Given the description of an element on the screen output the (x, y) to click on. 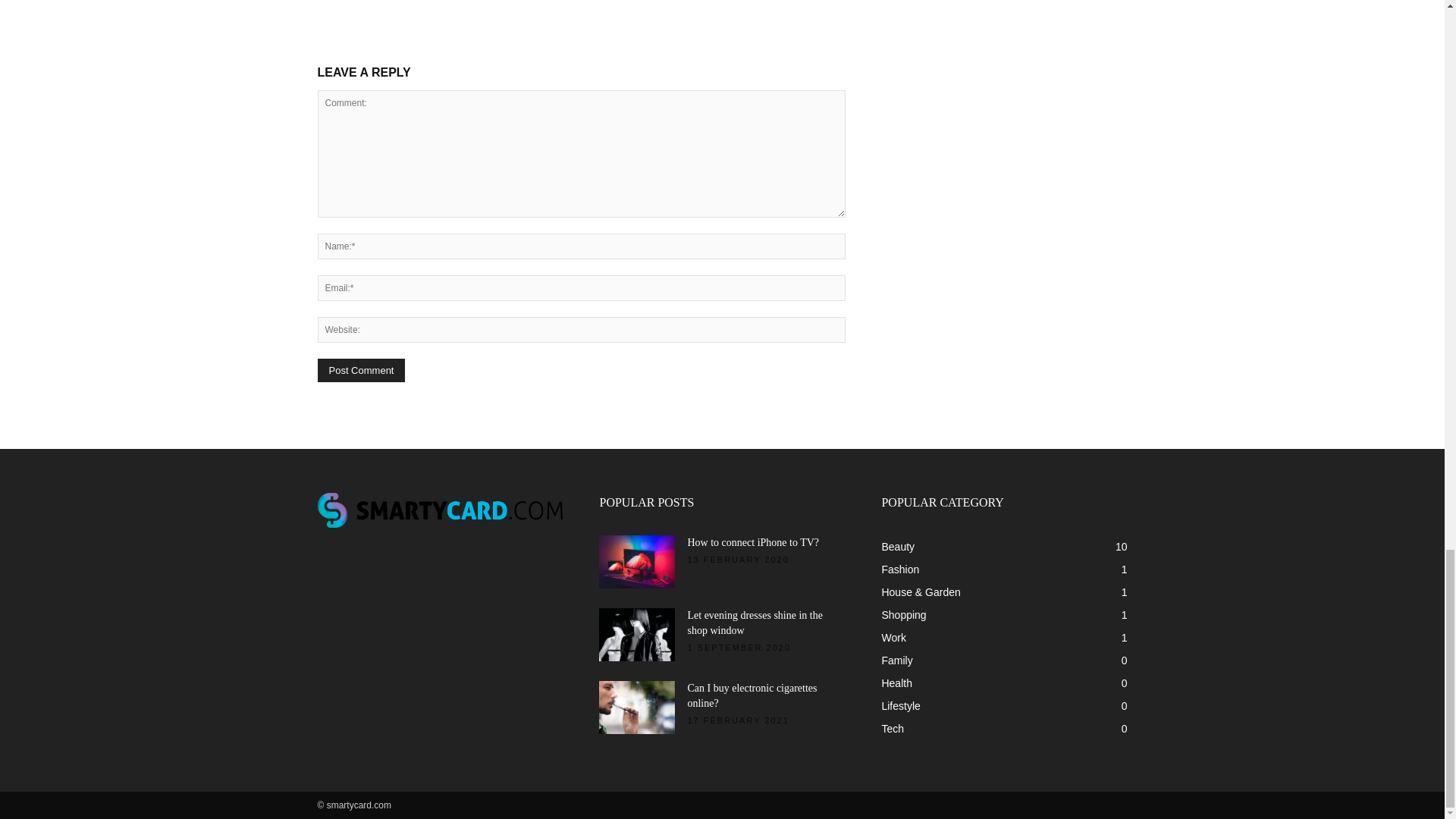
Post Comment (360, 370)
